Given the description of an element on the screen output the (x, y) to click on. 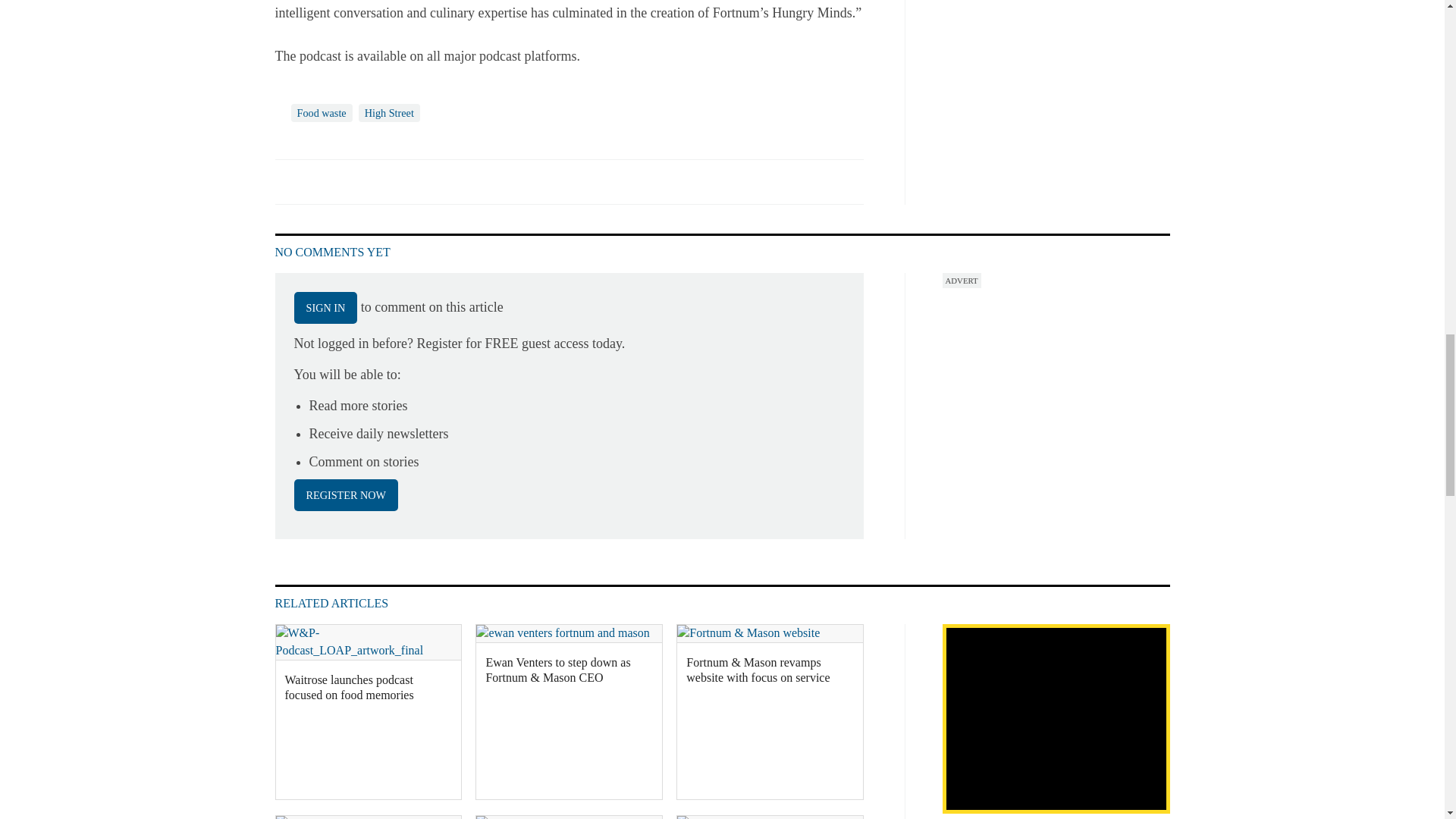
Share this on Facebook (288, 180)
No comments (840, 190)
Email this article (386, 180)
Share this on Linked in (352, 180)
Share this on Twitter (320, 180)
